Given the description of an element on the screen output the (x, y) to click on. 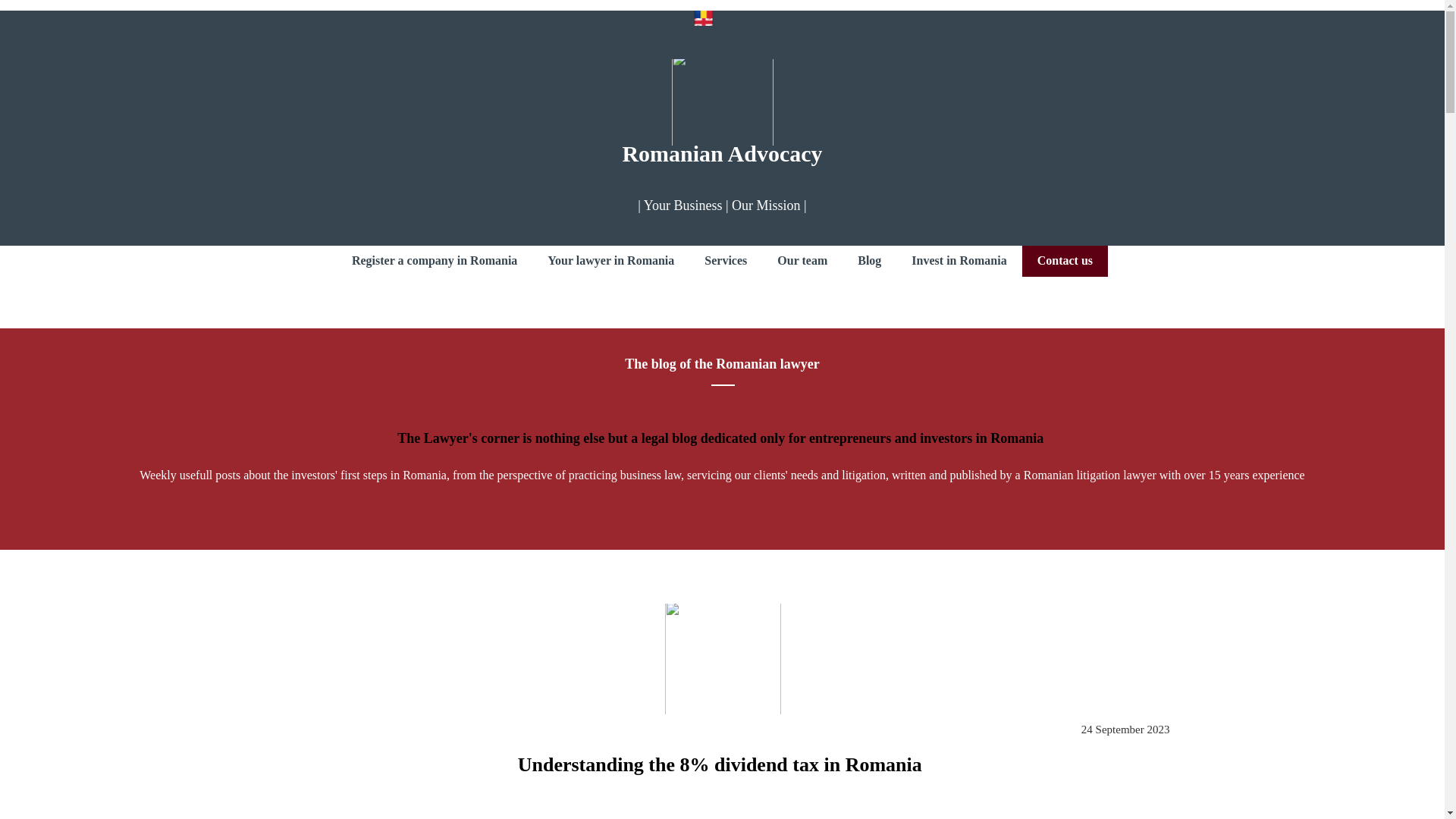
Invest in Romania (959, 260)
Contact us (1065, 260)
Your lawyer in Romania (610, 260)
Services (724, 260)
Register a company in Romania (434, 260)
Our team (802, 260)
Blog (869, 260)
